Given the description of an element on the screen output the (x, y) to click on. 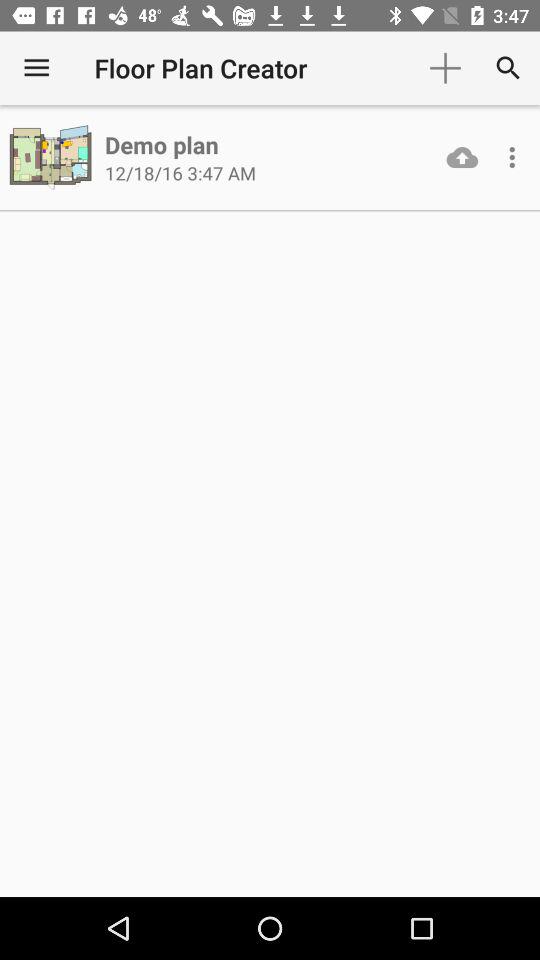
tap the demo plan (161, 144)
